Given the description of an element on the screen output the (x, y) to click on. 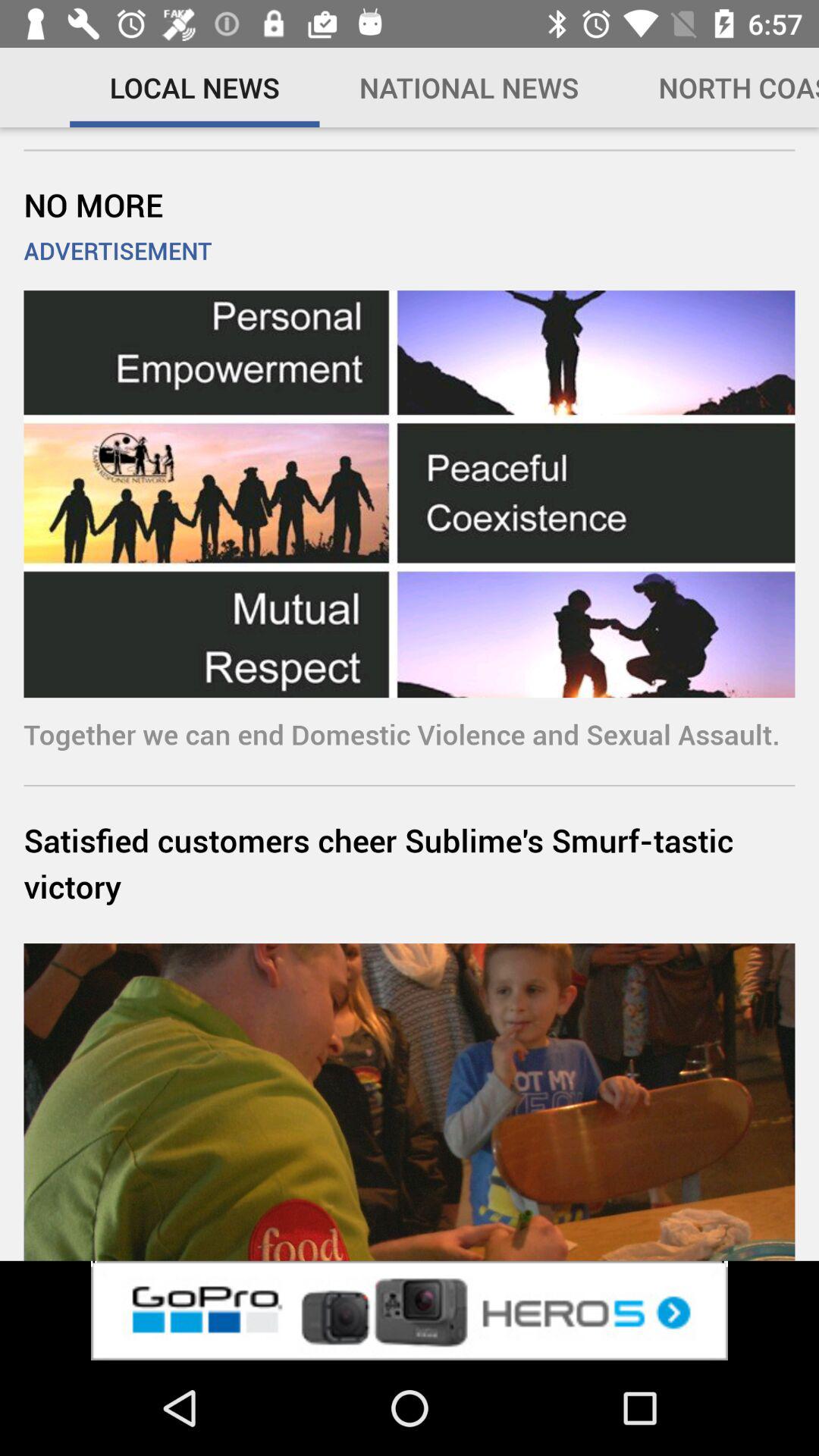
learn more about the gopro hero 5 (409, 1310)
